Given the description of an element on the screen output the (x, y) to click on. 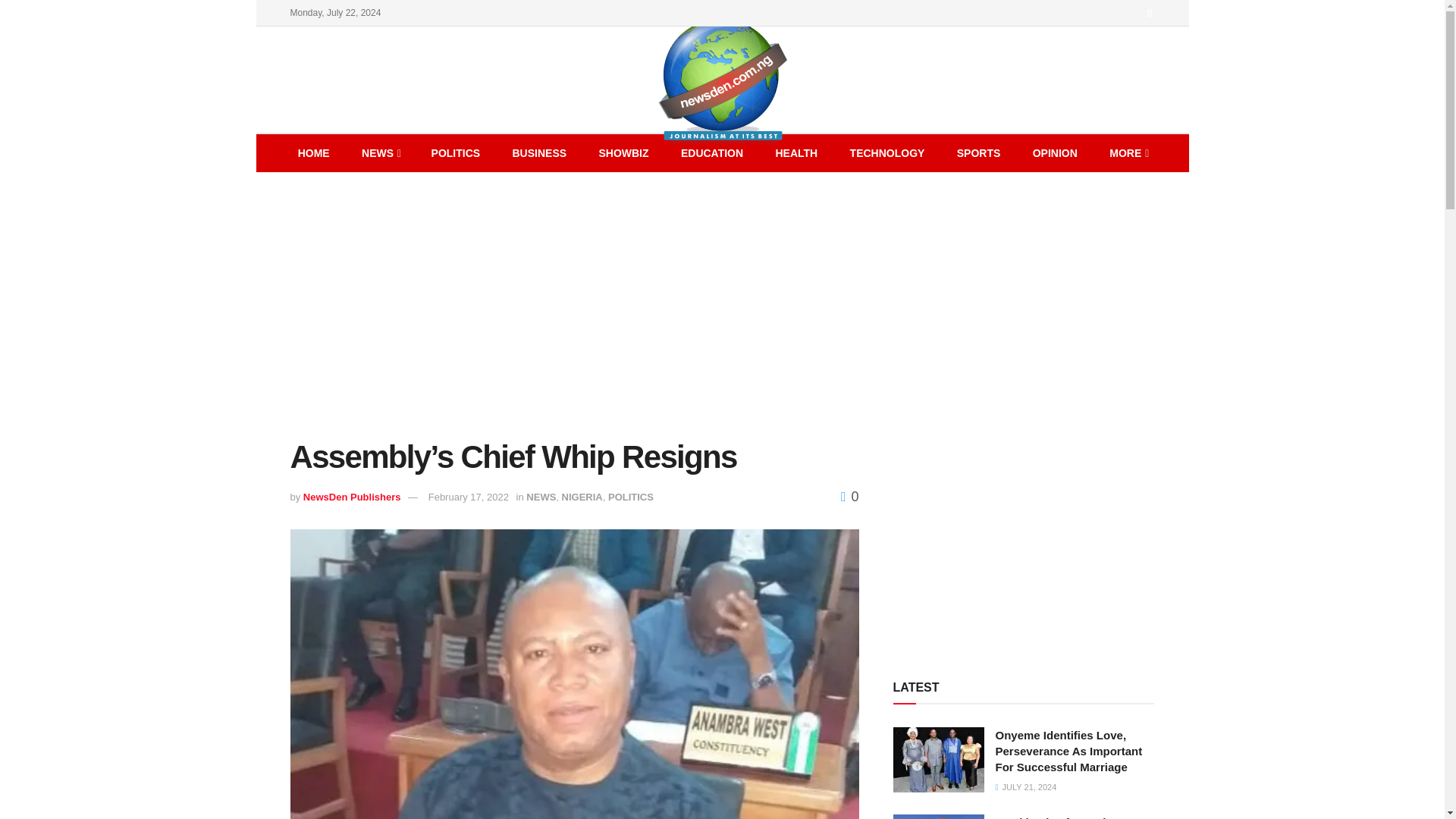
NEWS (379, 152)
HOME (314, 152)
POLITICS (455, 152)
EDUCATION (711, 152)
Advertisement (1023, 537)
SHOWBIZ (622, 152)
BUSINESS (539, 152)
MORE (1128, 152)
SPORTS (978, 152)
TECHNOLOGY (887, 152)
OPINION (1054, 152)
HEALTH (795, 152)
